Given the description of an element on the screen output the (x, y) to click on. 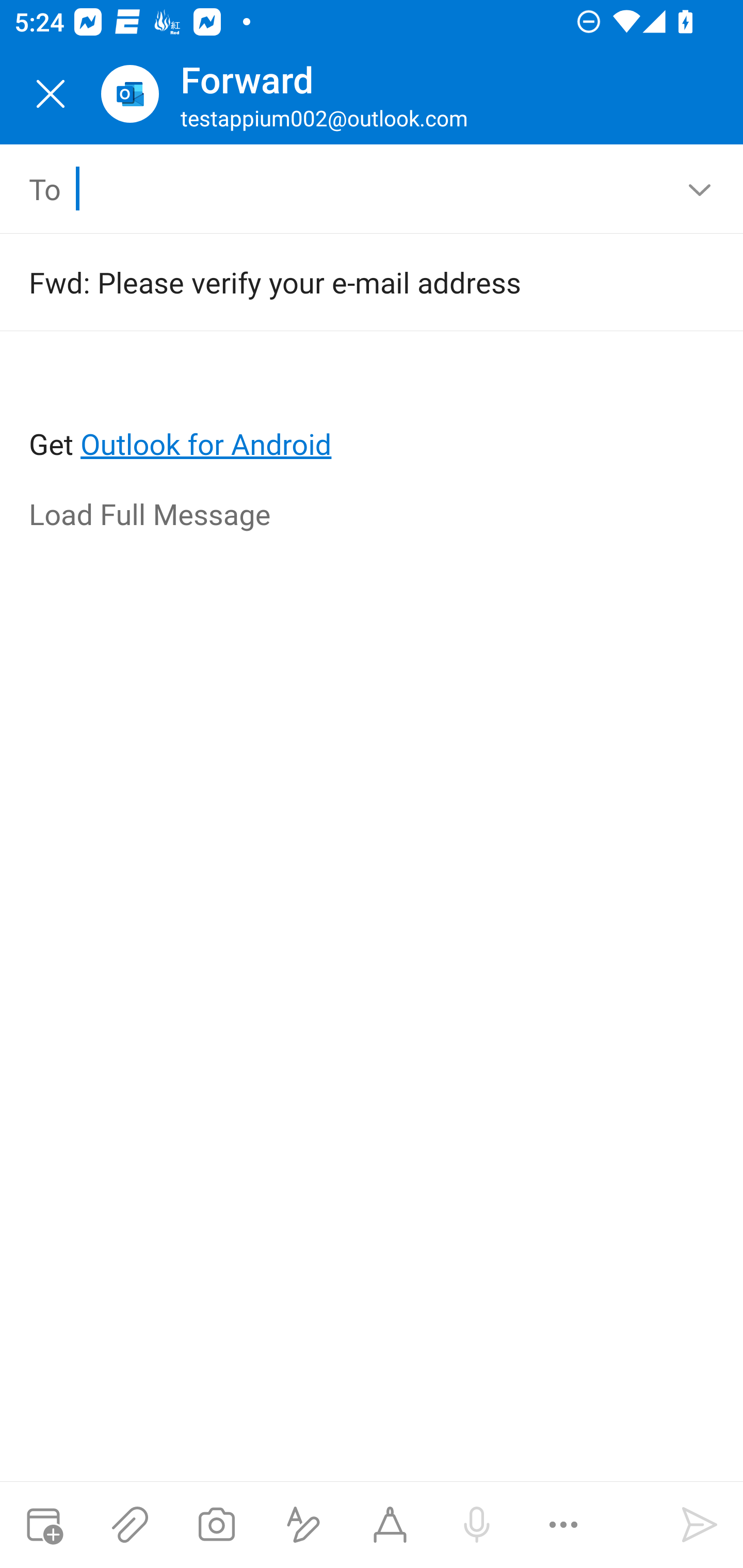
Close (50, 93)
Fwd: Please verify your e-mail address (342, 281)


Get Outlook for Android (372, 411)
Load Full Message (372, 514)
Attach meeting (43, 1524)
Attach files (129, 1524)
Take a photo (216, 1524)
Show formatting options (303, 1524)
Start Ink compose (389, 1524)
More options (563, 1524)
Send (699, 1524)
